Given the description of an element on the screen output the (x, y) to click on. 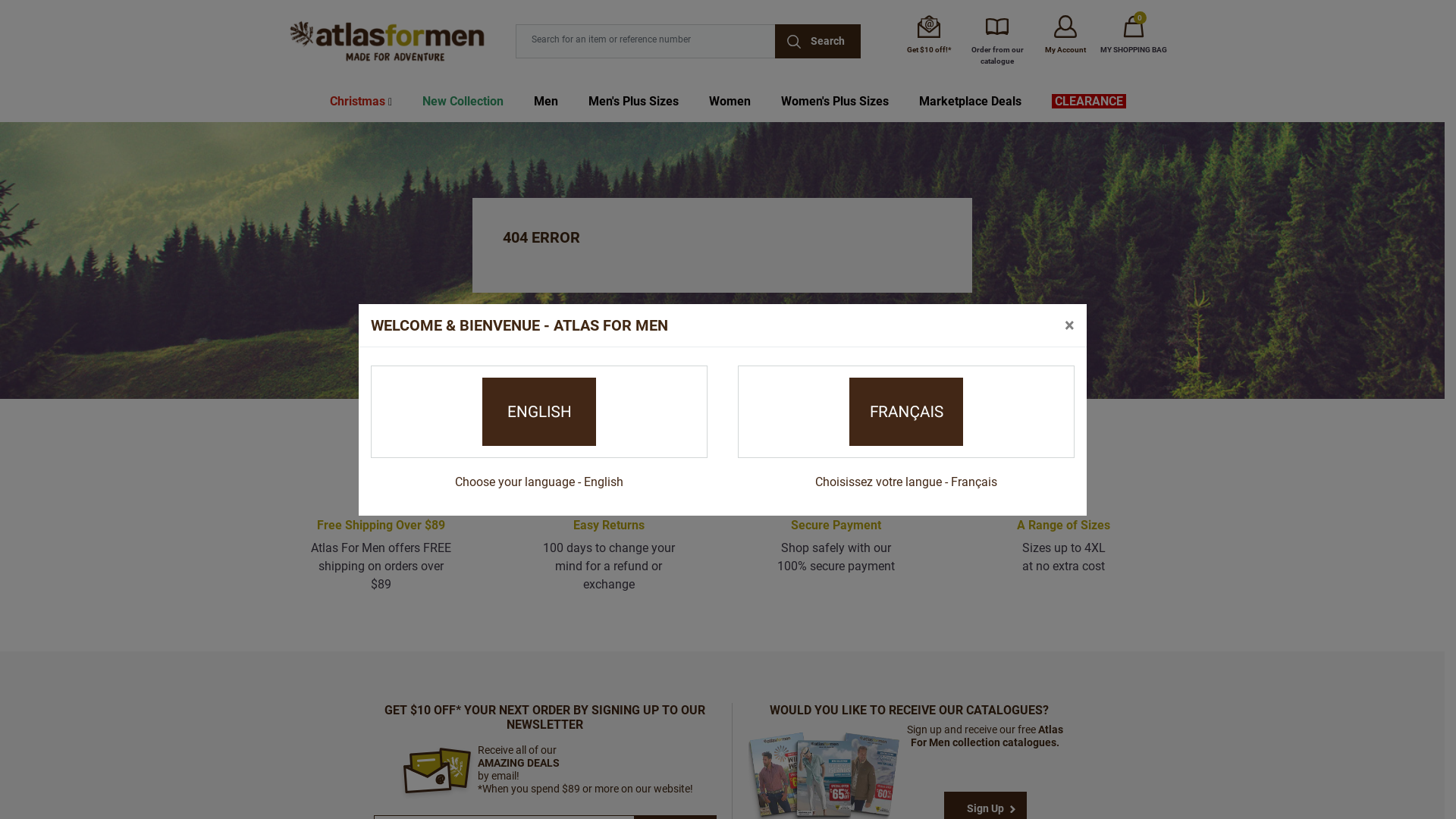
Men's Plus Sizes Element type: text (633, 102)
Search Element type: text (817, 41)
Women's Plus Sizes Element type: text (834, 102)
New Collection Element type: text (462, 102)
Marketplace Deals Element type: text (969, 102)
Men Element type: text (545, 102)
 CLEARANCE  Element type: text (1088, 102)
Secure Payment
Shop safely with our
100% secure payment Element type: text (835, 532)
A Range of Sizes
Sizes up to 4XL
at no extra cost Element type: text (1062, 532)
My Account Element type: text (1065, 35)
Order from our catalogue Element type: text (997, 40)
Get $10 off!* Element type: text (928, 35)
0
MY SHOPPING BAG Element type: text (1133, 35)
GET $10 OFF* YOUR NEXT ORDER BY SIGNING UP TO OUR NEWSLETTER Element type: text (544, 716)
Women Element type: text (729, 102)
